Given the description of an element on the screen output the (x, y) to click on. 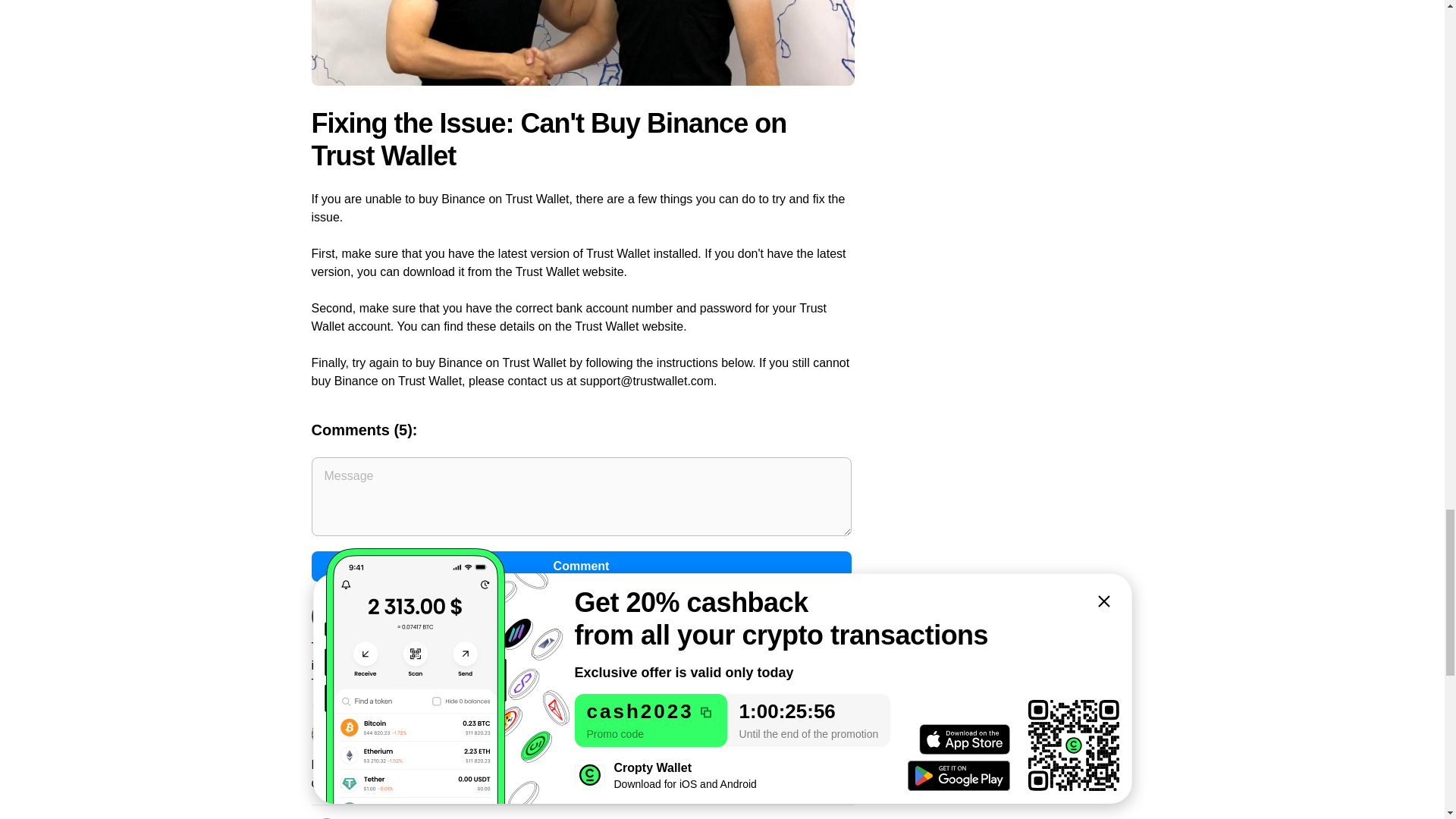
Comment (580, 566)
